Given the description of an element on the screen output the (x, y) to click on. 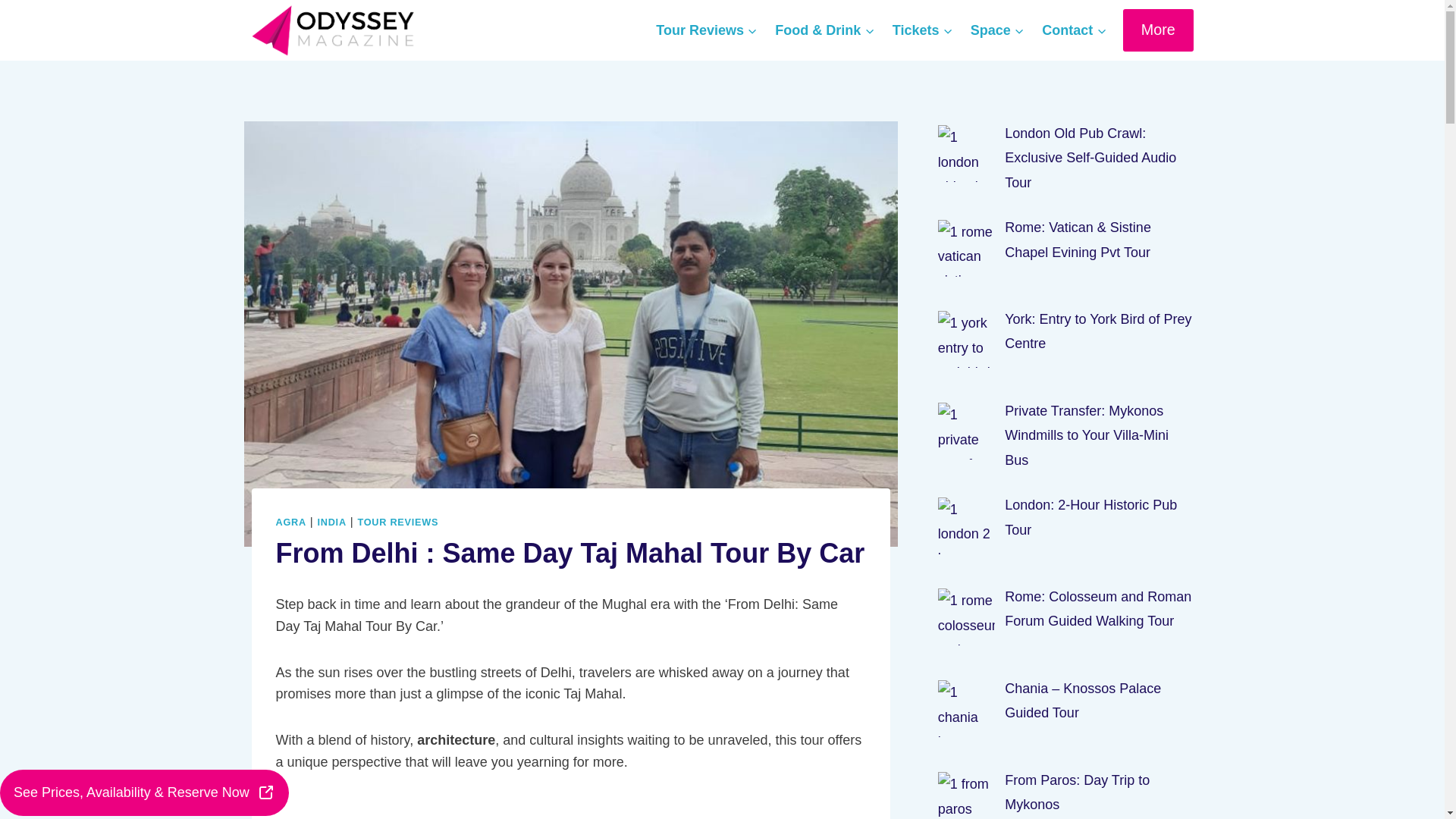
TOUR REVIEWS (397, 521)
Tour Reviews (707, 30)
AGRA (290, 521)
Contact (1074, 30)
More (1157, 29)
Tickets (921, 30)
INDIA (331, 521)
Space (996, 30)
